Given the description of an element on the screen output the (x, y) to click on. 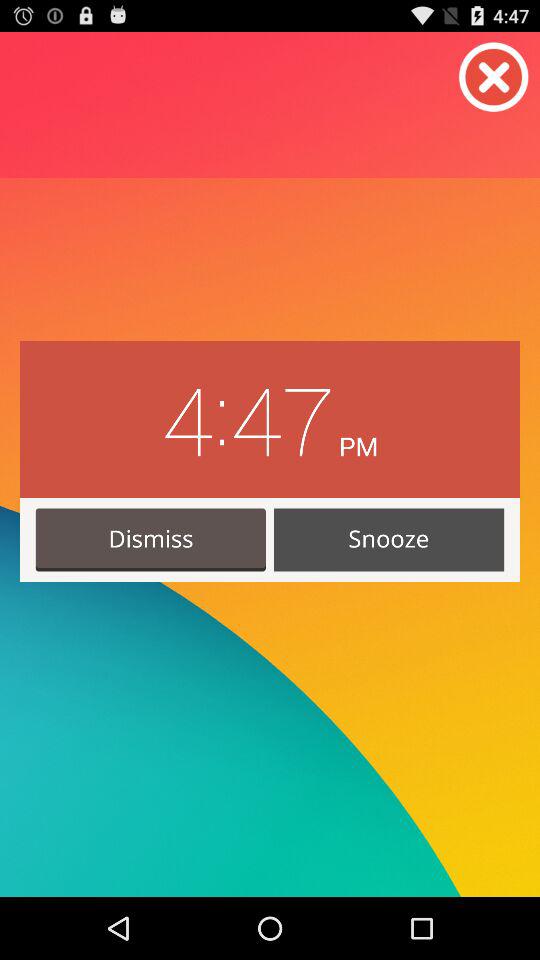
close button (493, 77)
